Given the description of an element on the screen output the (x, y) to click on. 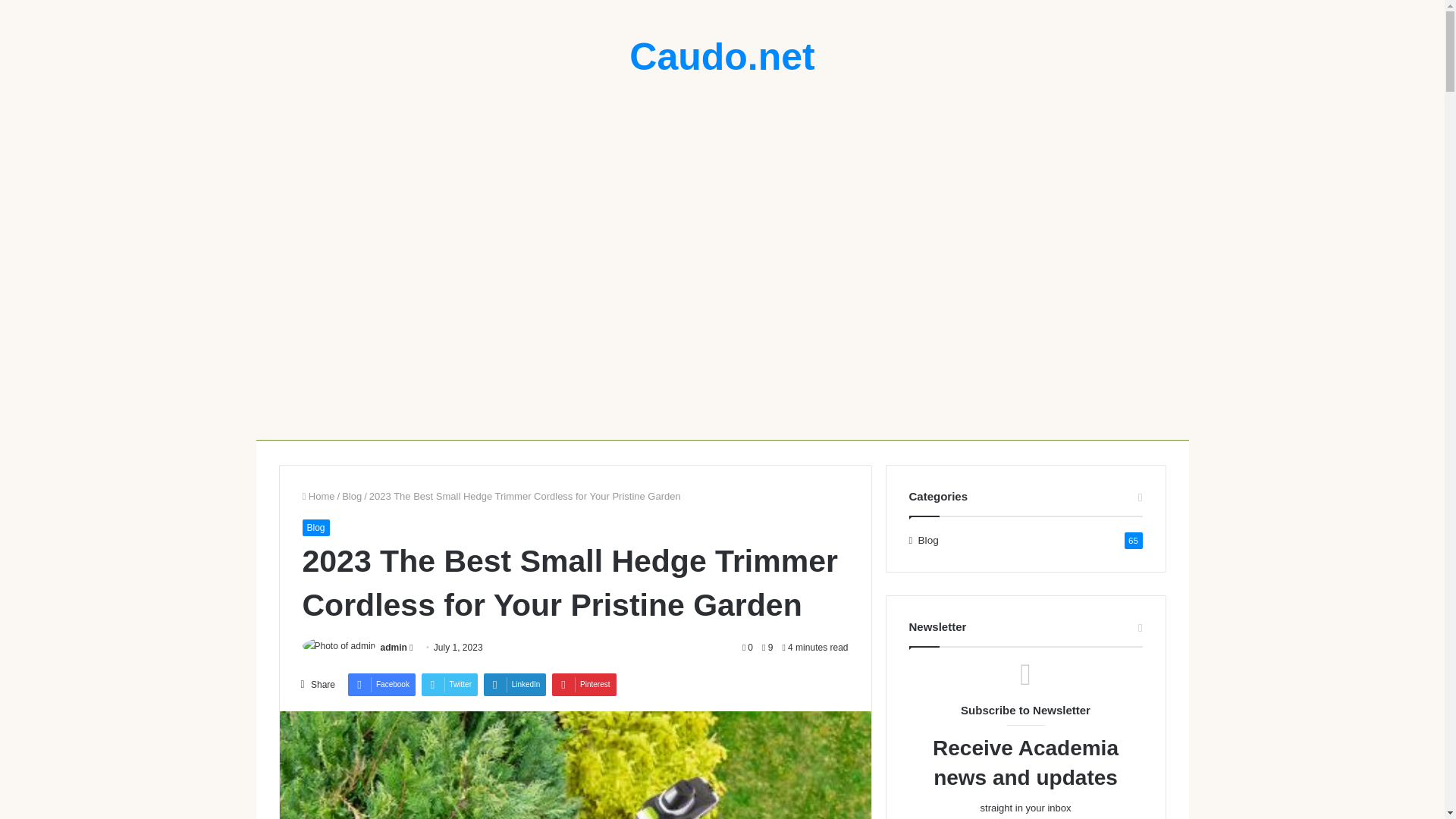
admin (393, 647)
LinkedIn (515, 684)
Twitter (449, 684)
Caudo.net (720, 56)
Twitter (449, 684)
Blog (315, 527)
Pinterest (583, 684)
Home (317, 496)
LinkedIn (515, 684)
Pinterest (583, 684)
Facebook (380, 684)
admin (393, 647)
Blog (351, 496)
Facebook (380, 684)
